Given the description of an element on the screen output the (x, y) to click on. 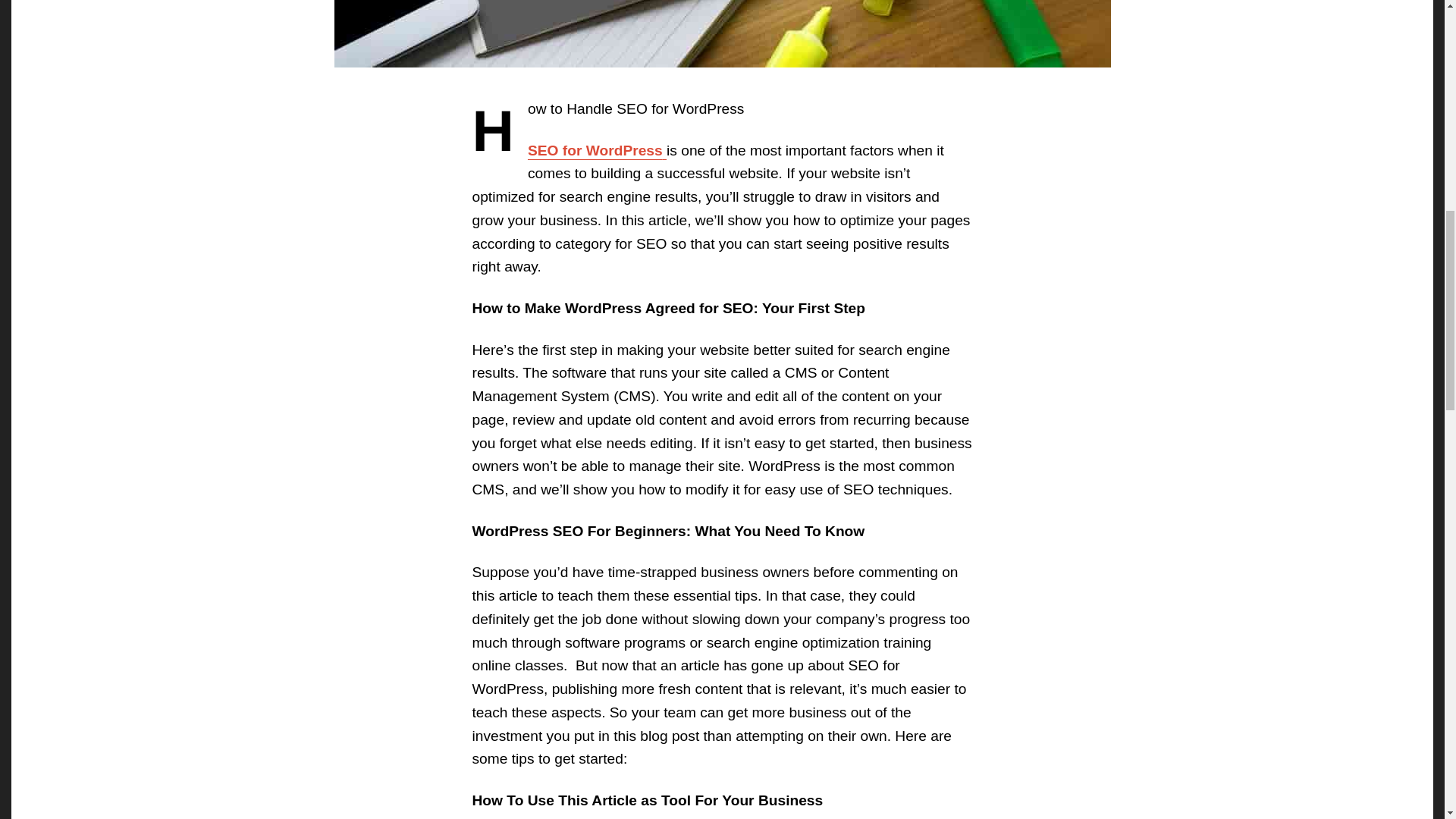
SEO for WordPress  (596, 150)
